Given the description of an element on the screen output the (x, y) to click on. 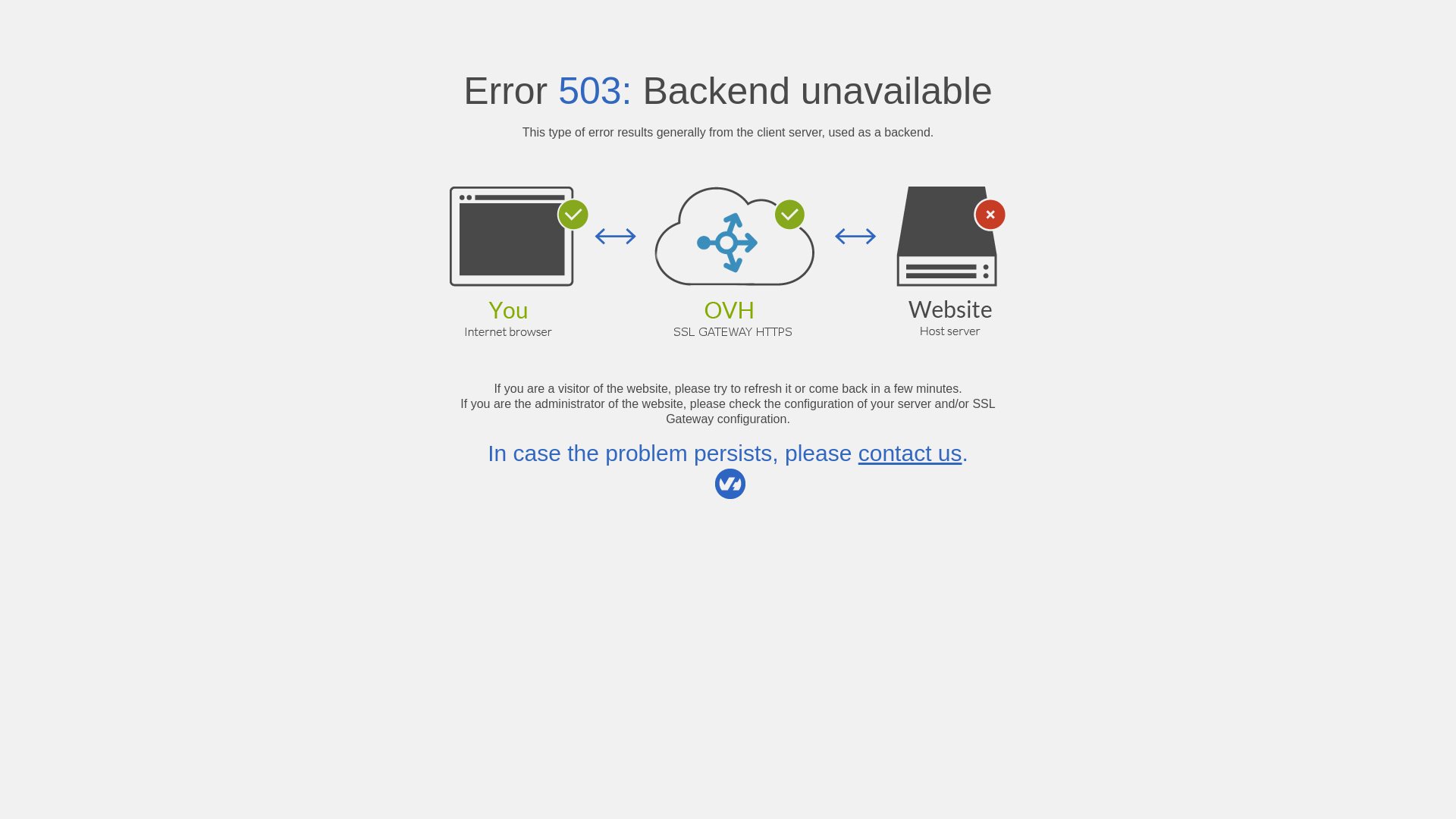
contact us Element type: text (910, 452)
